Given the description of an element on the screen output the (x, y) to click on. 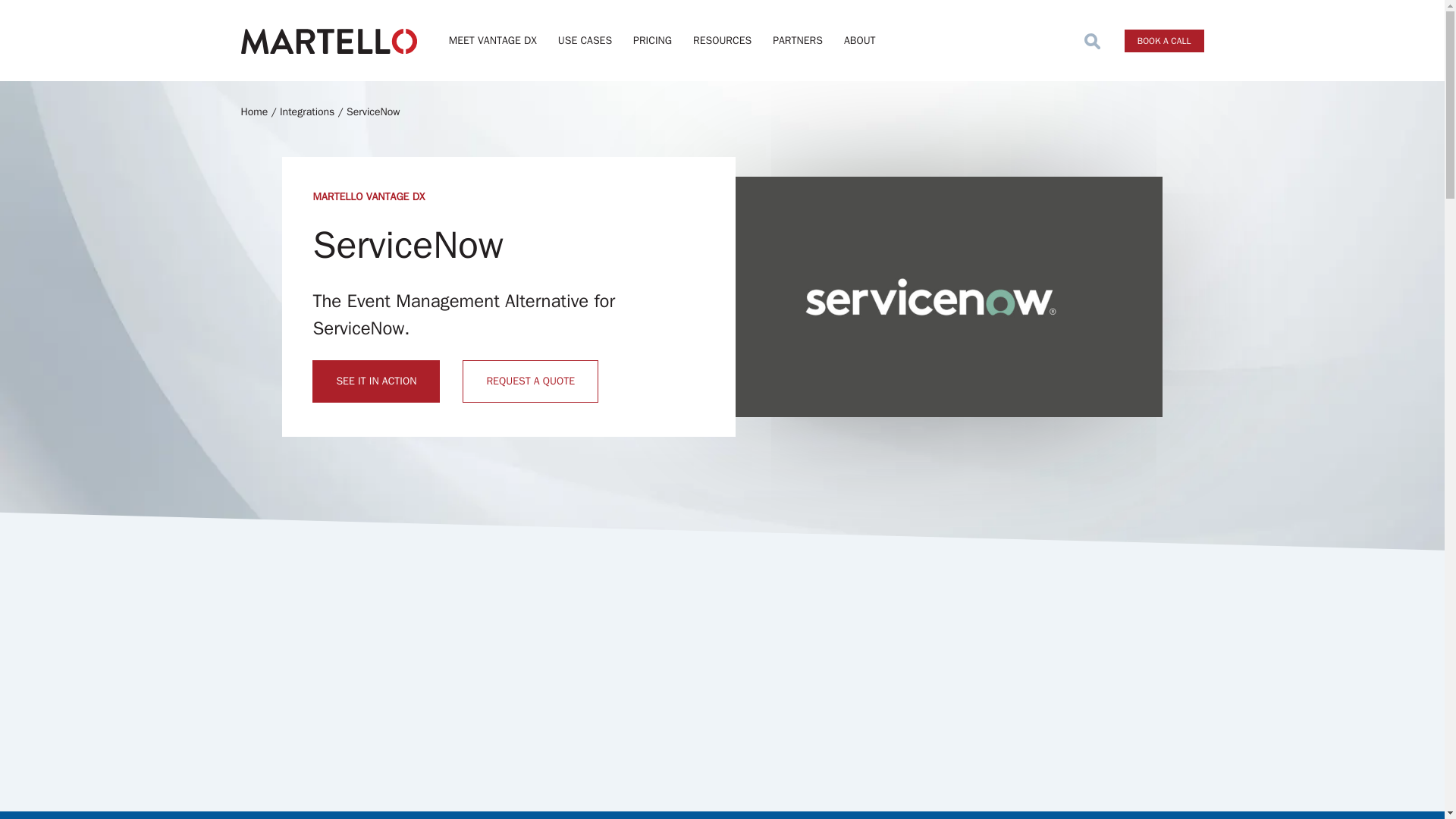
RESOURCES (721, 39)
MEET VANTAGE DX (492, 39)
PRICING (652, 39)
PARTNERS (797, 39)
Martello Technologies (328, 39)
USE CASES (585, 39)
